Given the description of an element on the screen output the (x, y) to click on. 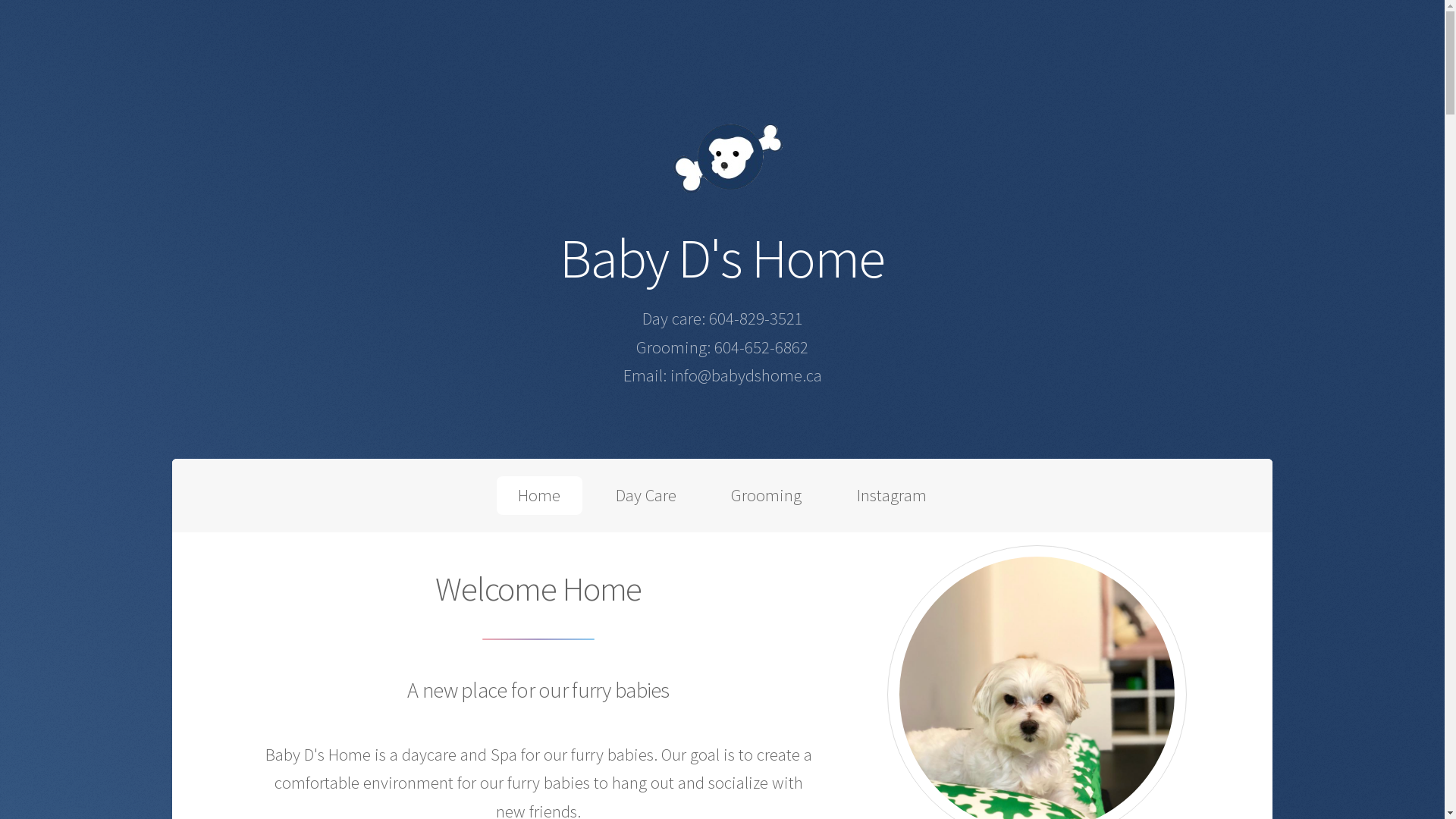
Instagram Element type: text (890, 495)
Home Element type: text (539, 495)
Grooming Element type: text (766, 495)
Day Care Element type: text (645, 495)
